Given the description of an element on the screen output the (x, y) to click on. 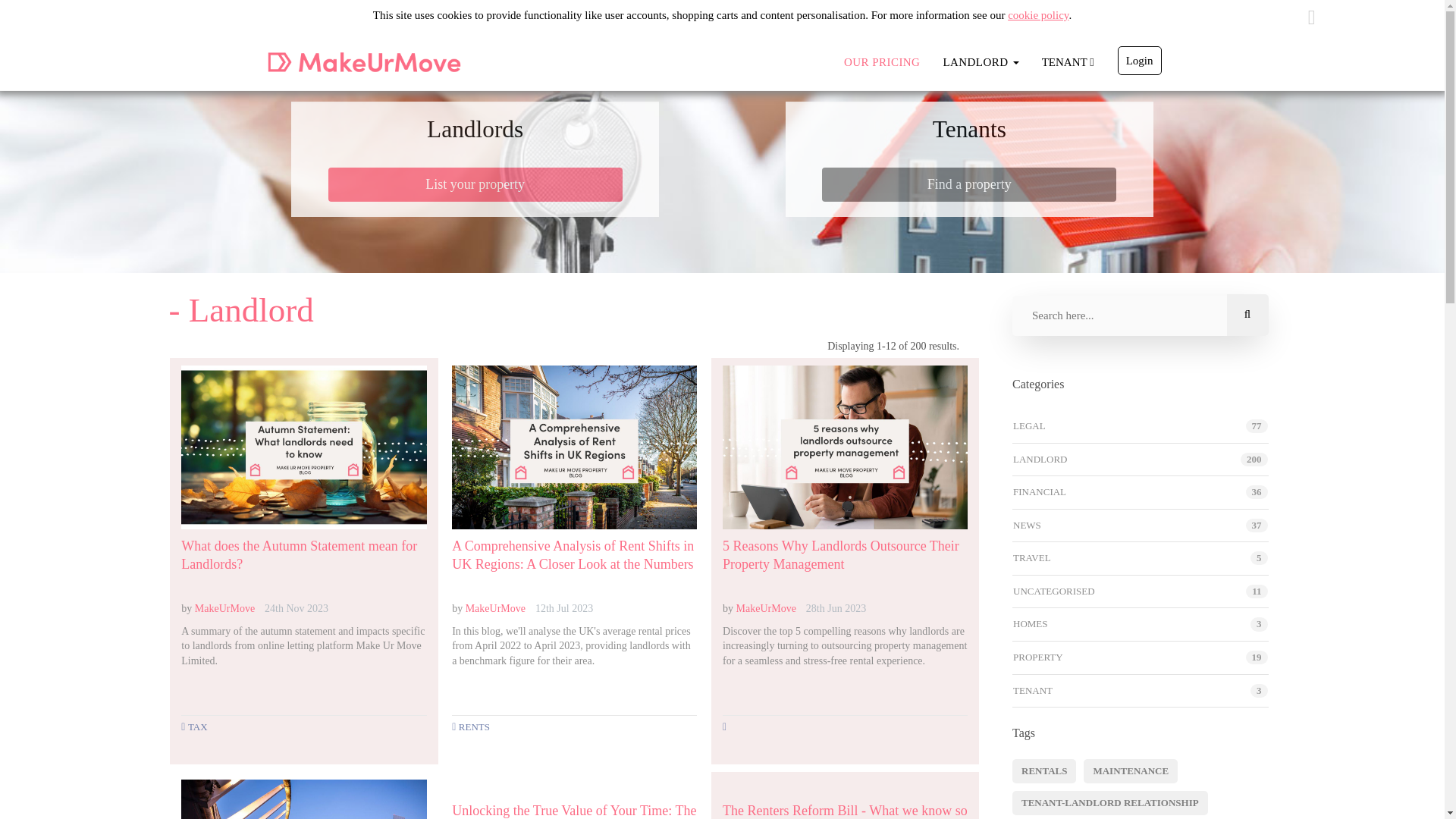
OUR PRICING (881, 62)
TENANT (1067, 62)
LANDLORD (980, 62)
Search text (1139, 315)
cookie policy (1037, 15)
